Given the description of an element on the screen output the (x, y) to click on. 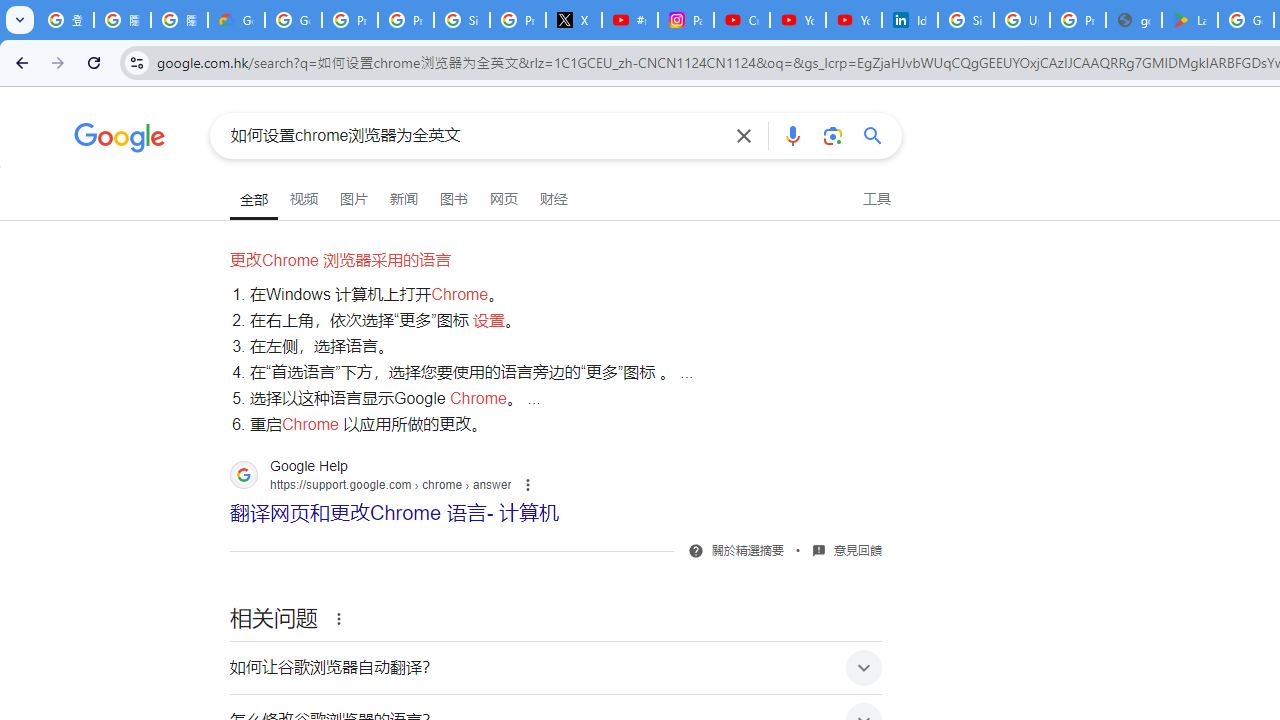
Sign in - Google Accounts (966, 20)
Privacy Help Center - Policies Help (405, 20)
